Given the description of an element on the screen output the (x, y) to click on. 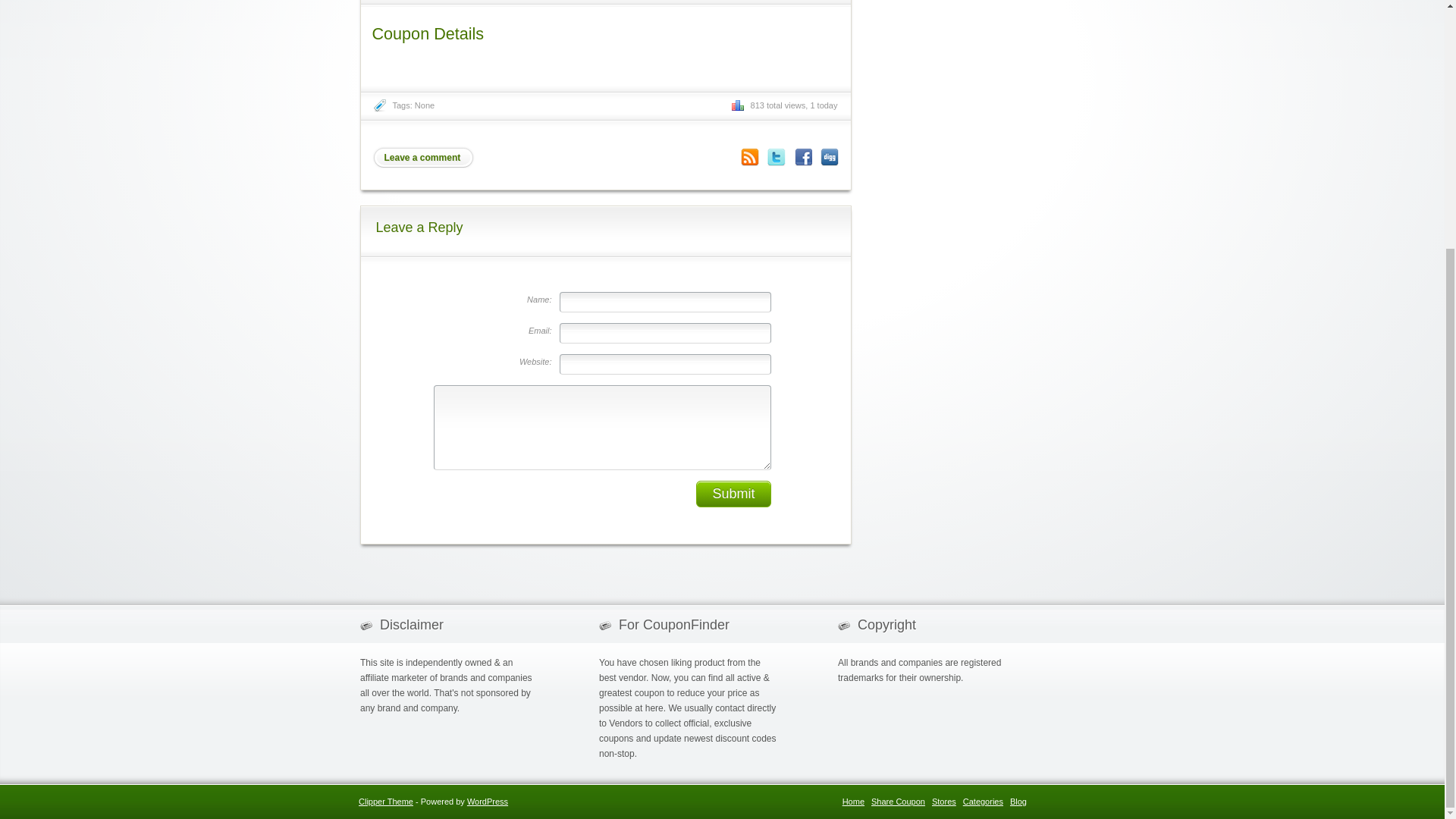
Submit (732, 493)
Blog (1018, 800)
Stores (943, 800)
Twitter (776, 157)
WordPress (487, 800)
Categories (982, 800)
Coupon Comments RSS (748, 157)
Clipper Theme (385, 800)
Digg (829, 157)
Leave a comment (422, 157)
Home (853, 800)
Share Coupon (897, 800)
Facebook (801, 157)
